Given the description of an element on the screen output the (x, y) to click on. 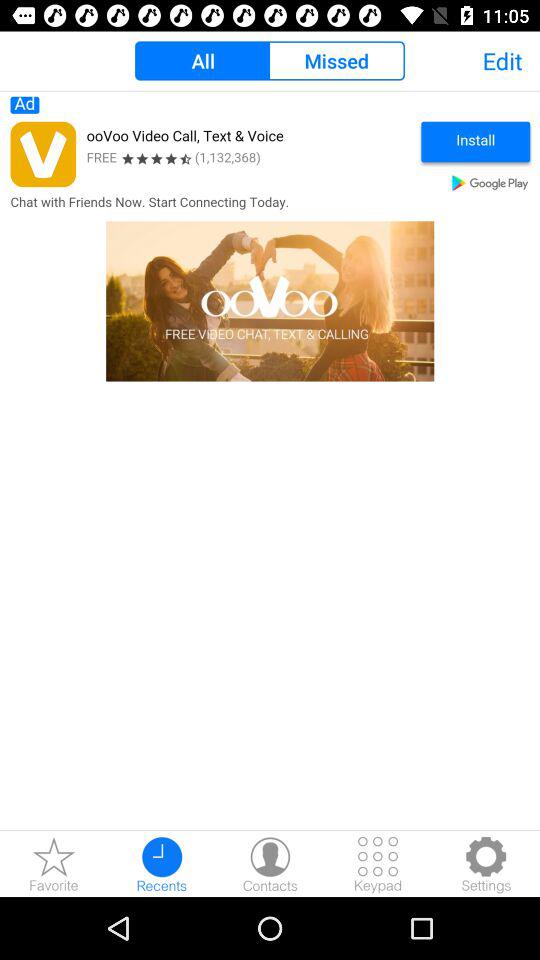
pull up keypad (377, 864)
